Given the description of an element on the screen output the (x, y) to click on. 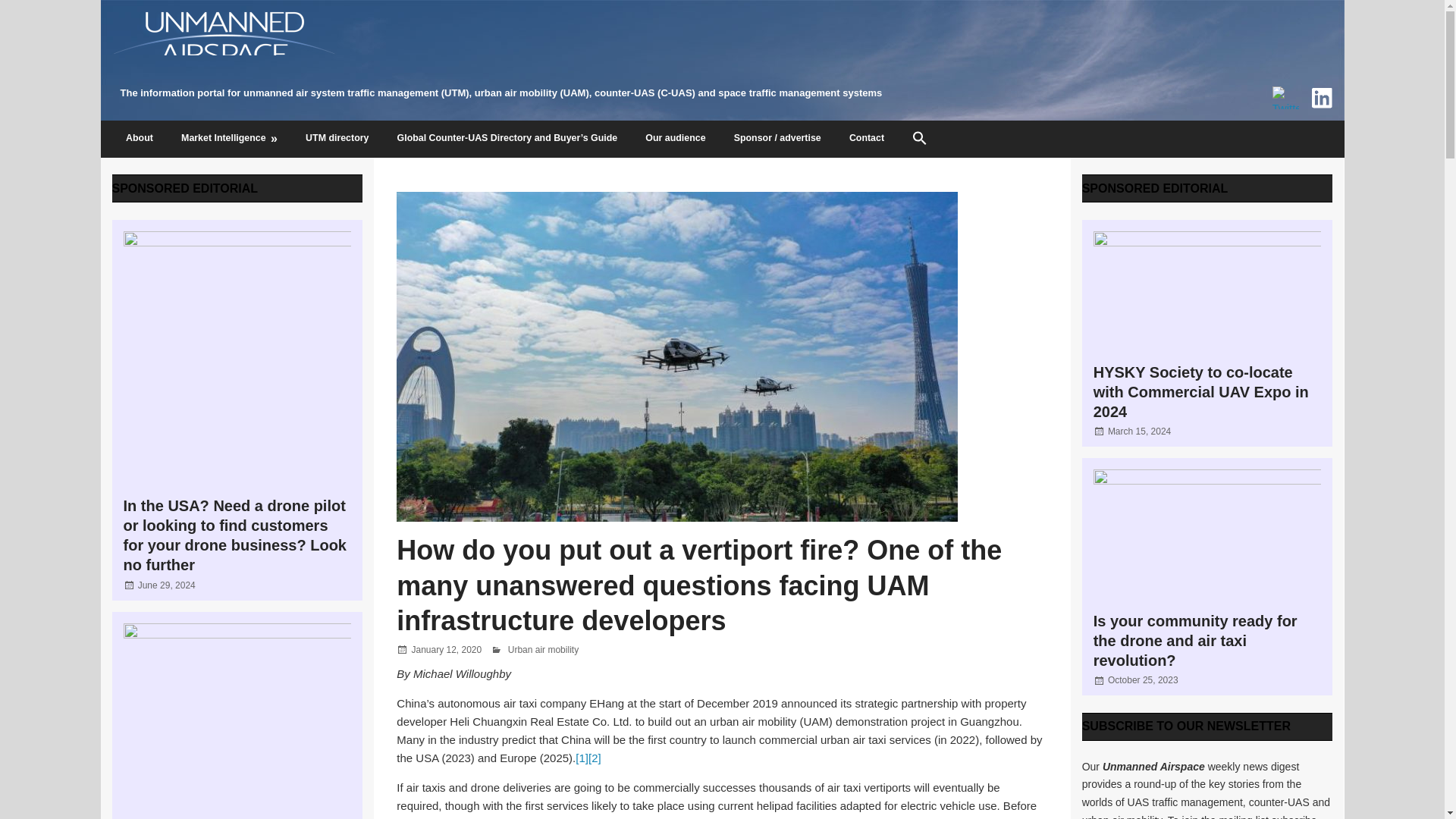
Philip Butterworth-Hayes (558, 649)
Market Intelligence (229, 138)
Urban air mobility (543, 649)
View all posts from category Sponsored editorial 2 (1154, 187)
January 12, 2020 (445, 649)
Contact (866, 138)
9:00 am (1142, 679)
Our audience (675, 138)
1:16 pm (1139, 430)
11:31 am (166, 584)
June 29, 2024 (166, 584)
View all posts from category Sponsored editorial 1 (185, 187)
About (139, 138)
View all posts by Philip Butterworth-Hayes (558, 649)
